Given the description of an element on the screen output the (x, y) to click on. 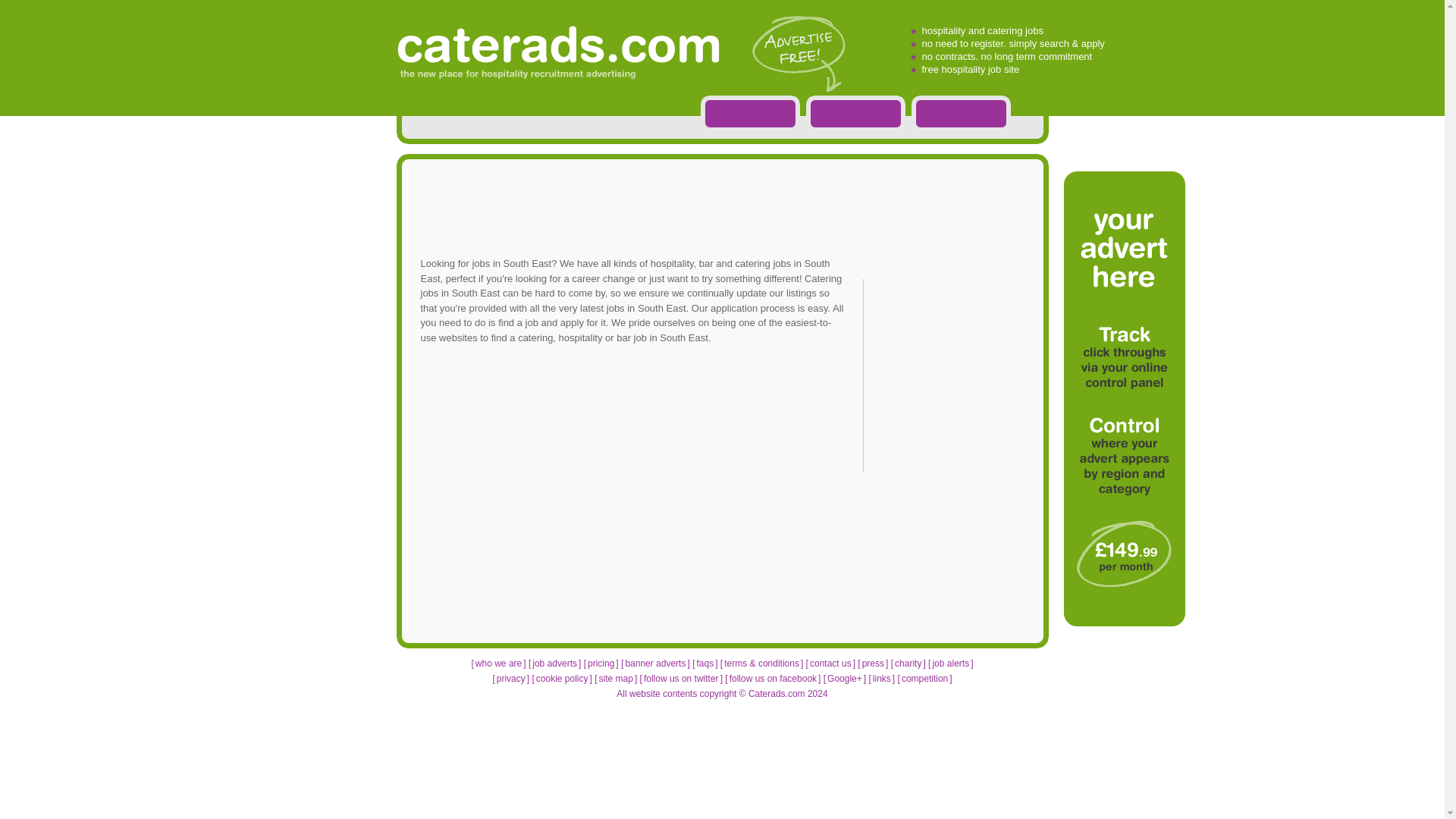
who we are (498, 663)
contact us (830, 663)
faqs (704, 663)
links (881, 678)
pricing (600, 663)
follow us on facebook (773, 678)
charity (908, 663)
privacy (511, 678)
cookie policy (561, 678)
job alerts (950, 663)
